Given the description of an element on the screen output the (x, y) to click on. 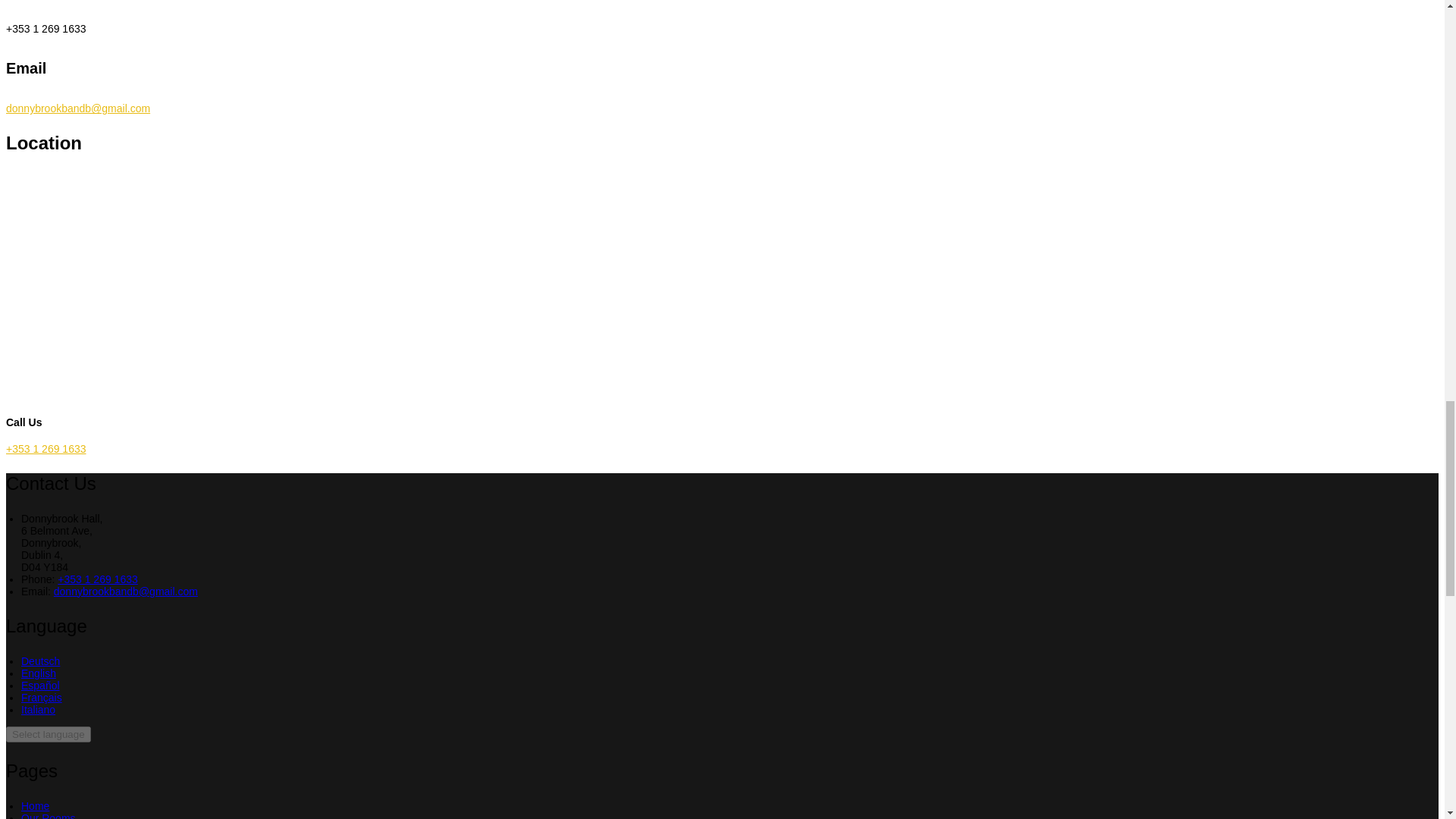
Deutsch (40, 661)
English (38, 673)
Italiano (38, 709)
